Given the description of an element on the screen output the (x, y) to click on. 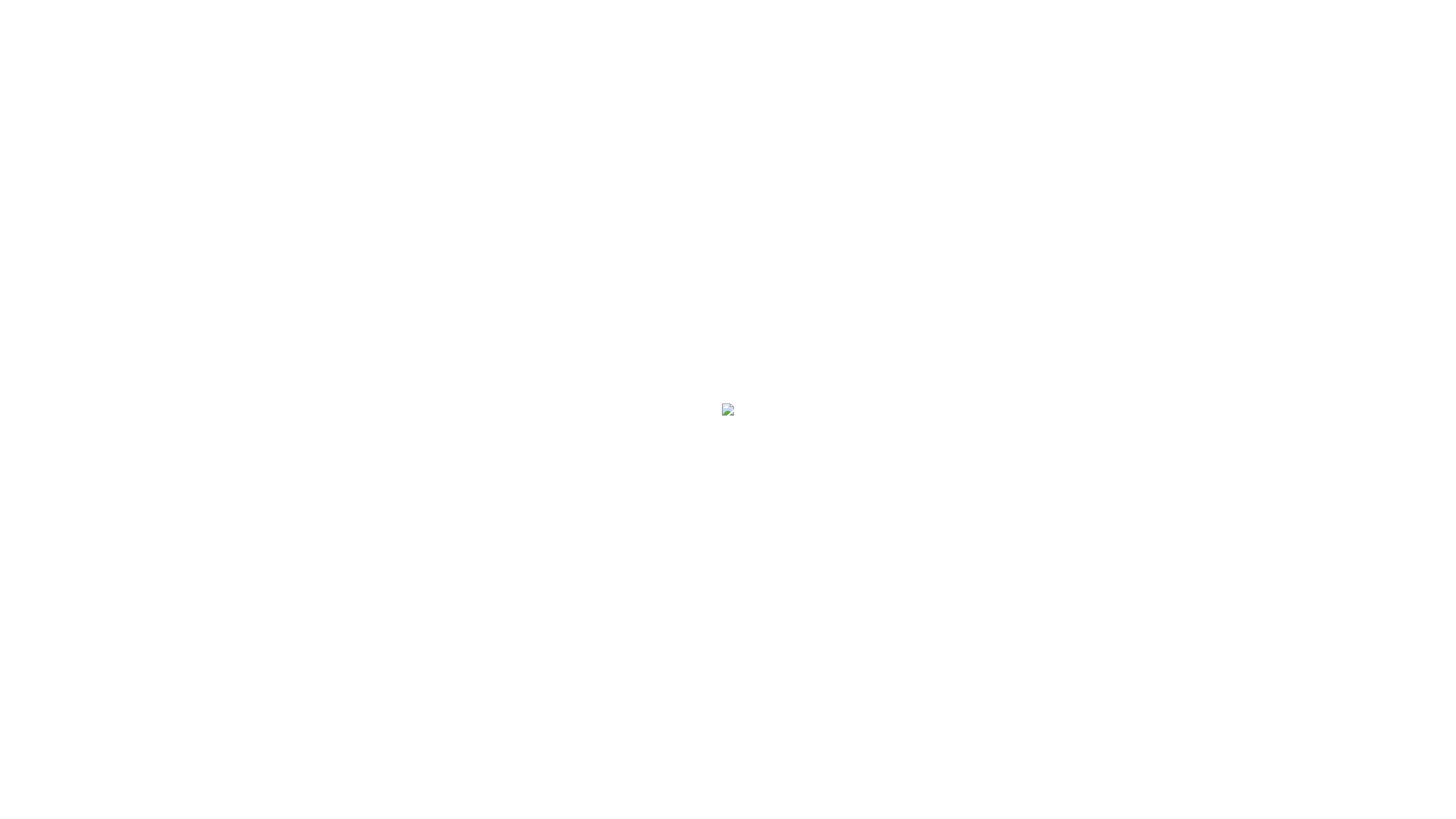
stay at la chapelle Element type: text (94, 789)
HISTORY Element type: text (94, 240)
RESTAURANT Element type: text (94, 88)
EN Element type: text (152, 731)
OUR RITUALS Element type: text (95, 164)
BOOK A ROOM Element type: text (94, 113)
SUMMER GLAMPING Element type: text (94, 139)
WINE CELLAR Element type: text (94, 189)
PARTNERS Element type: text (94, 265)
DISCOVER US Element type: text (94, 62)
FR Element type: text (131, 731)
CONTACT Element type: text (94, 291)
WEDDING & B2B Element type: text (94, 215)
